Given the description of an element on the screen output the (x, y) to click on. 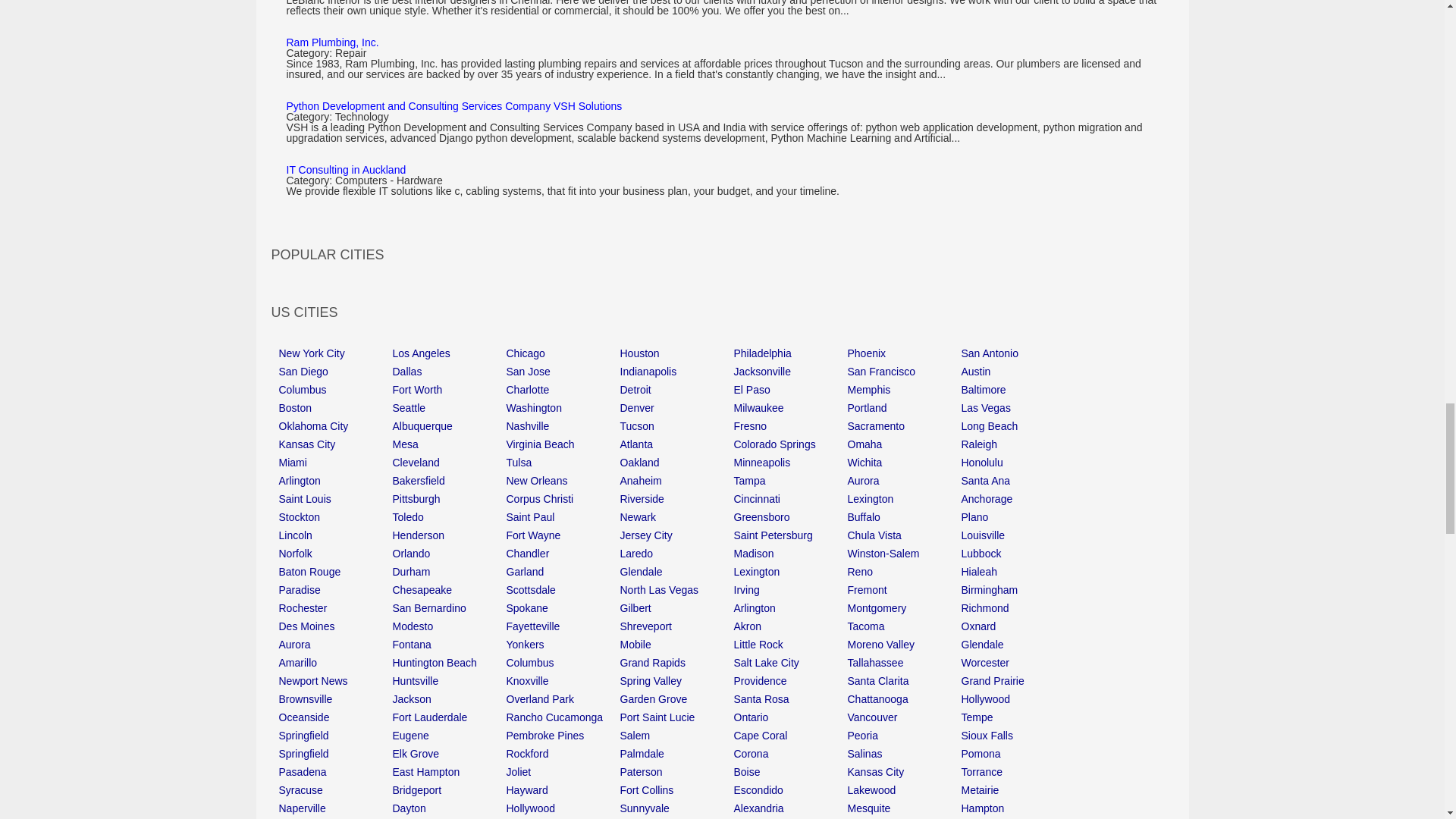
Philadelphia Free Classifieds (786, 353)
Phoenix Free Classifieds (900, 353)
Indianapolis Free Classifieds (673, 371)
Detroit Free Classifieds (673, 389)
San Jose Free Classifieds (559, 371)
San Diego Free Classifieds (332, 371)
Columbus Free Classifieds (332, 389)
Fort Worth Free Classifieds (446, 389)
Dallas Free Classifieds (446, 371)
New York City Free Classifieds (332, 353)
Charlotte Free Classifieds (559, 389)
Chicago Free Classifieds (559, 353)
San Antonio Free Classifieds (1013, 353)
Los Angeles Free Classifieds (446, 353)
Austin Free Classifieds (1013, 371)
